Given the description of an element on the screen output the (x, y) to click on. 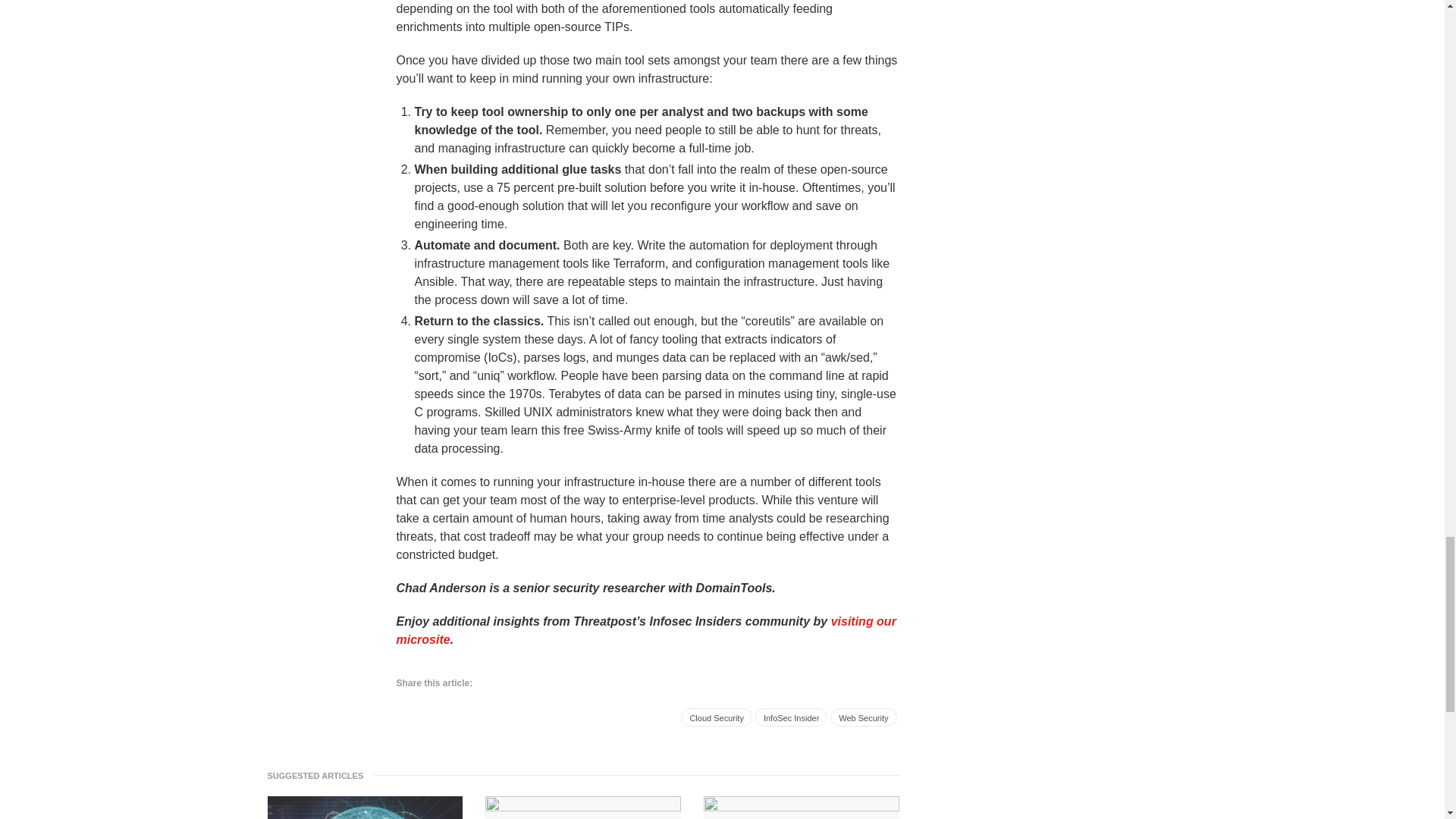
InfoSec Insider (791, 717)
SUGGESTED ARTICLES (319, 775)
visiting our microsite (645, 630)
Web Security (862, 717)
Cloud Security (716, 717)
